Given the description of an element on the screen output the (x, y) to click on. 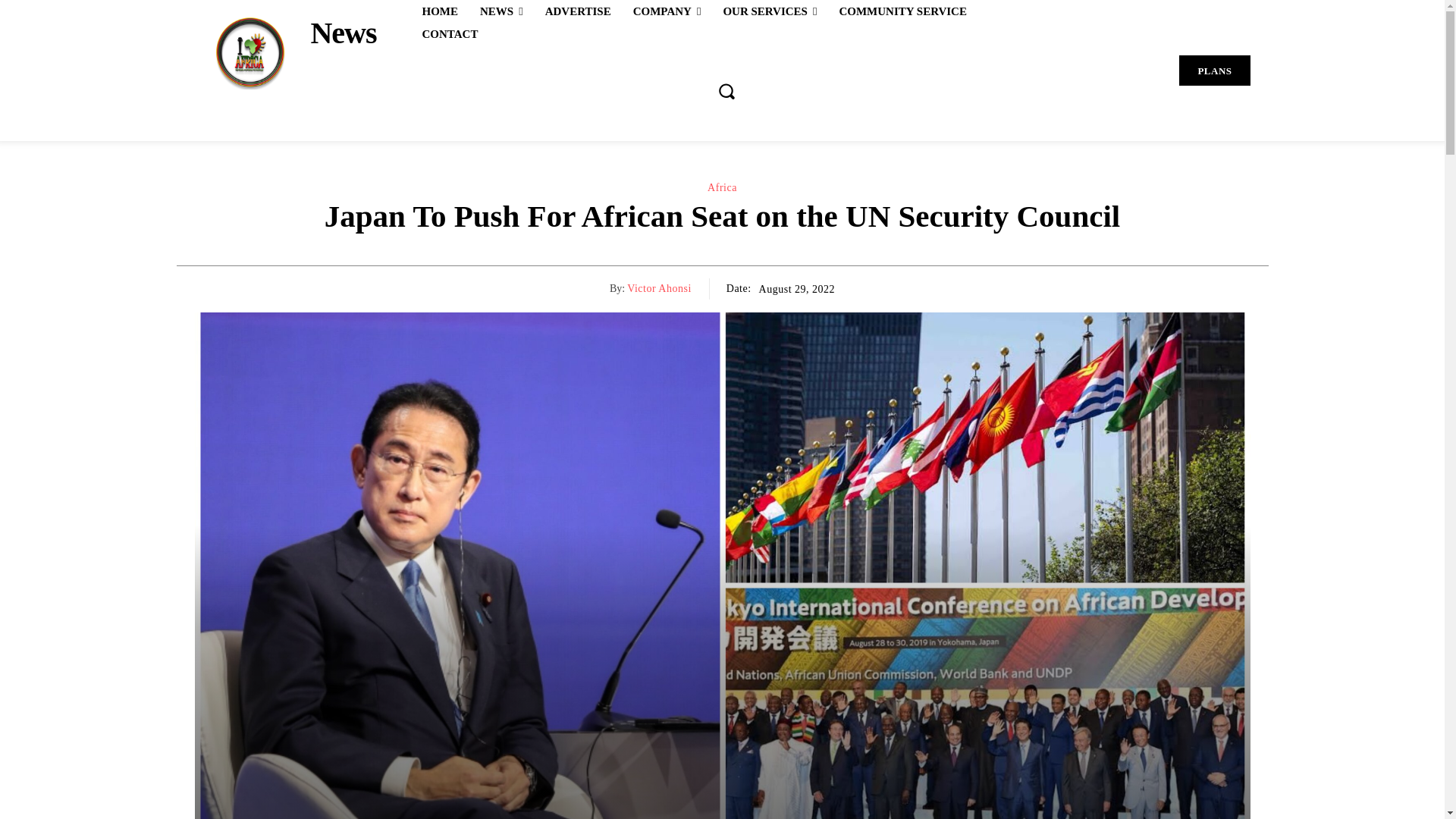
Plans (1214, 70)
NEWS (501, 11)
News (284, 51)
HOME (439, 11)
